Given the description of an element on the screen output the (x, y) to click on. 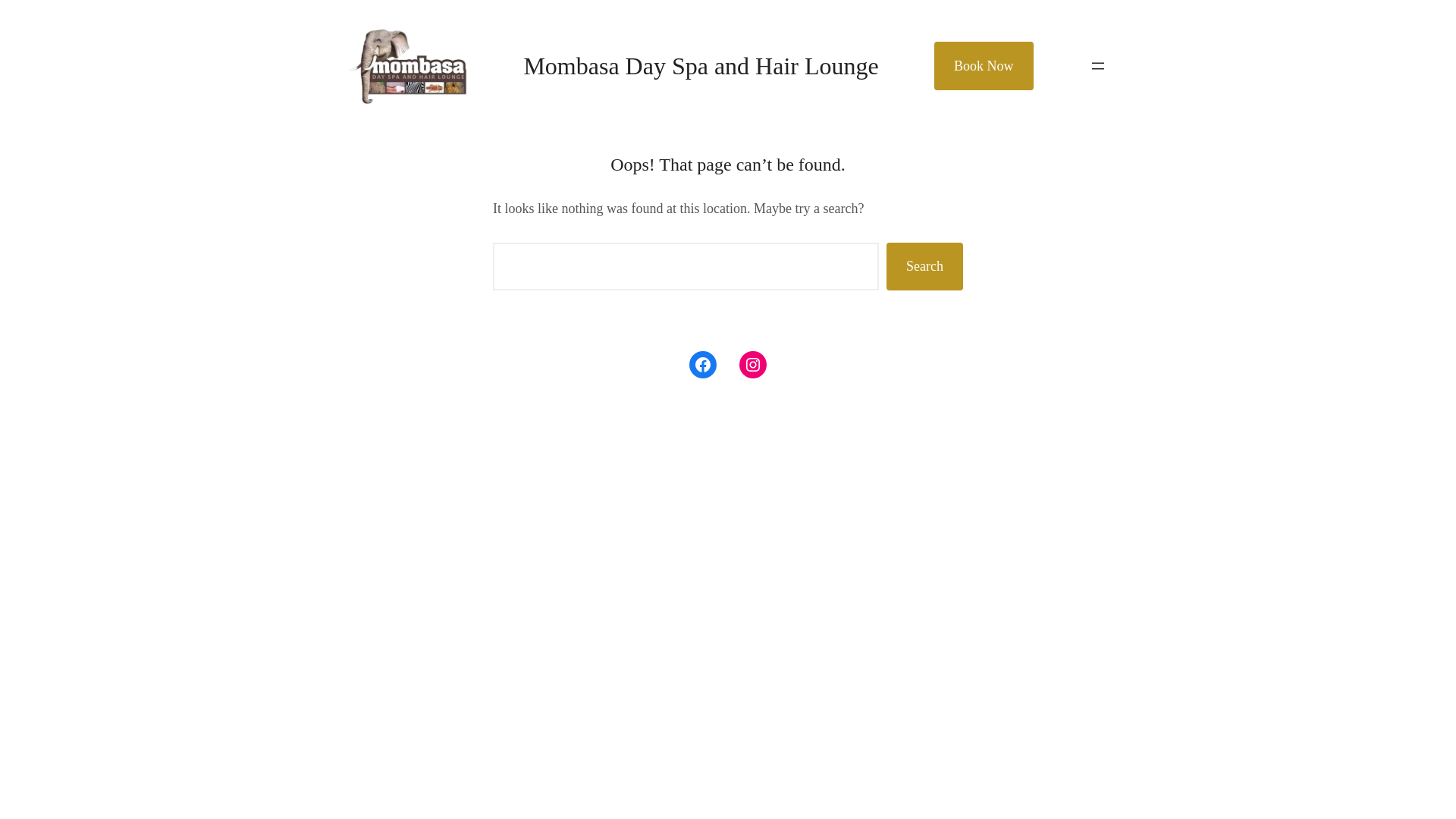
Search Element type: text (924, 266)
Instagram Element type: text (752, 364)
Book Now Element type: text (983, 65)
Facebook Element type: text (702, 364)
